Given the description of an element on the screen output the (x, y) to click on. 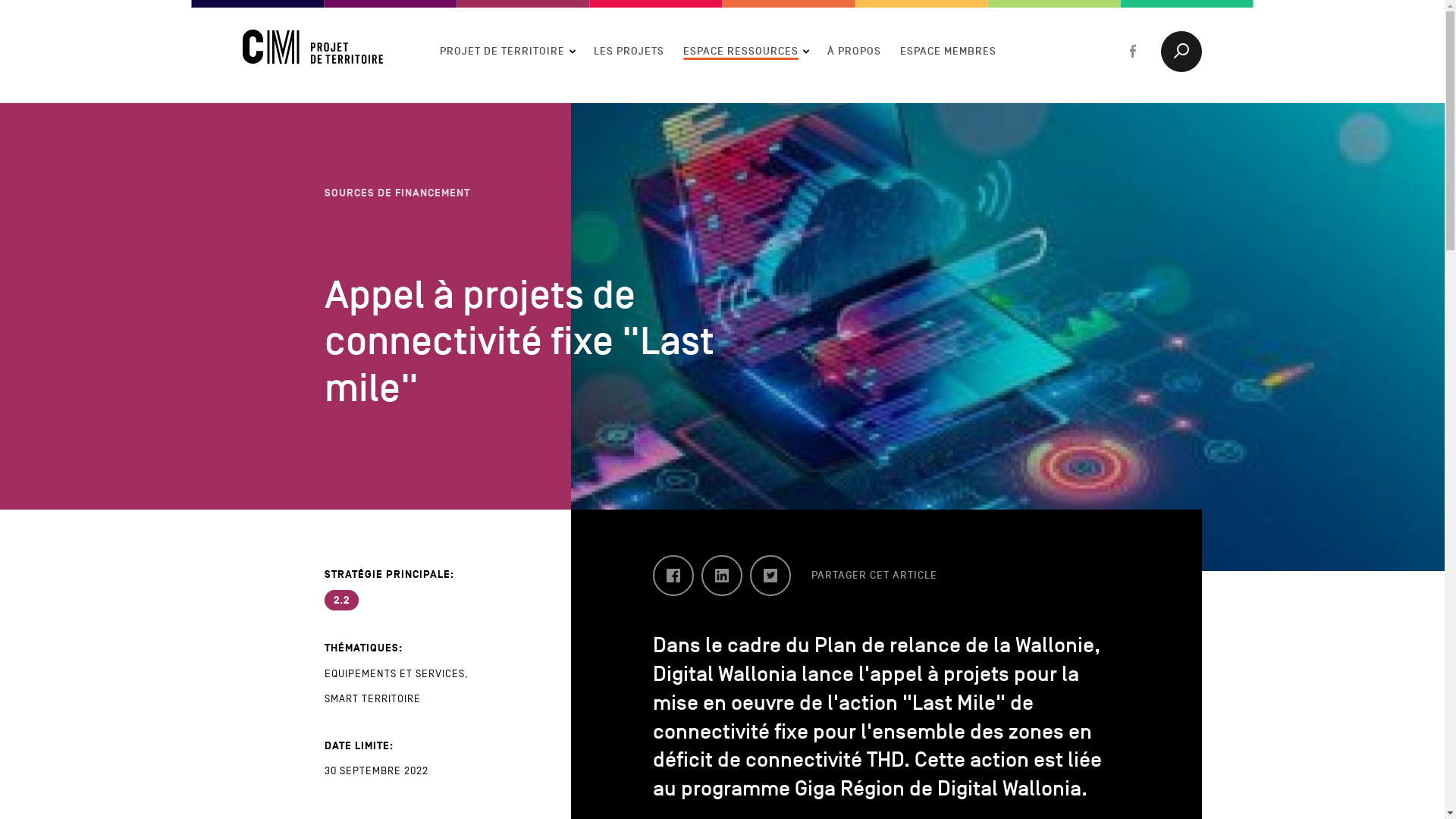
Facebook Element type: text (1132, 50)
LES PROJETS Element type: text (628, 50)
2.2 Element type: text (343, 599)
PROJET DE TERRITOIRE Element type: text (506, 50)
LinkedIn Element type: text (721, 575)
CM - Projet de Territoire Element type: text (312, 50)
Twitter Element type: text (769, 575)
ESPACE MEMBRES Element type: text (948, 50)
SOURCES DE FINANCEMENT Element type: text (397, 193)
Afficher la Recherche Element type: text (1181, 50)
Facebook Element type: text (672, 575)
ESPACE RESSOURCES Element type: text (745, 50)
